Given the description of an element on the screen output the (x, y) to click on. 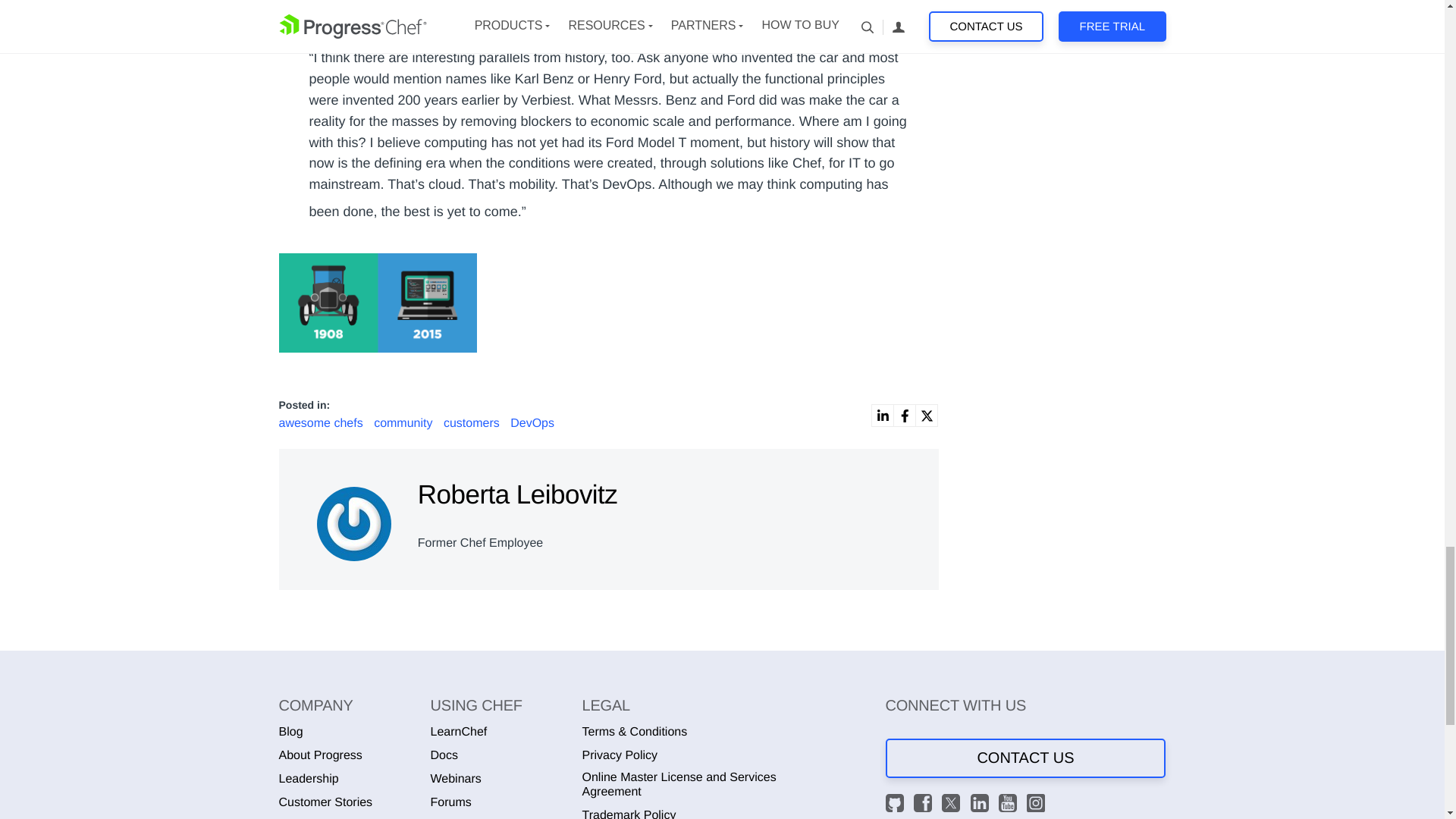
community (404, 422)
Roberta Leibovitz (355, 520)
Avatar (354, 523)
DevOps (532, 422)
customers (473, 422)
awesome chefs (322, 422)
